Given the description of an element on the screen output the (x, y) to click on. 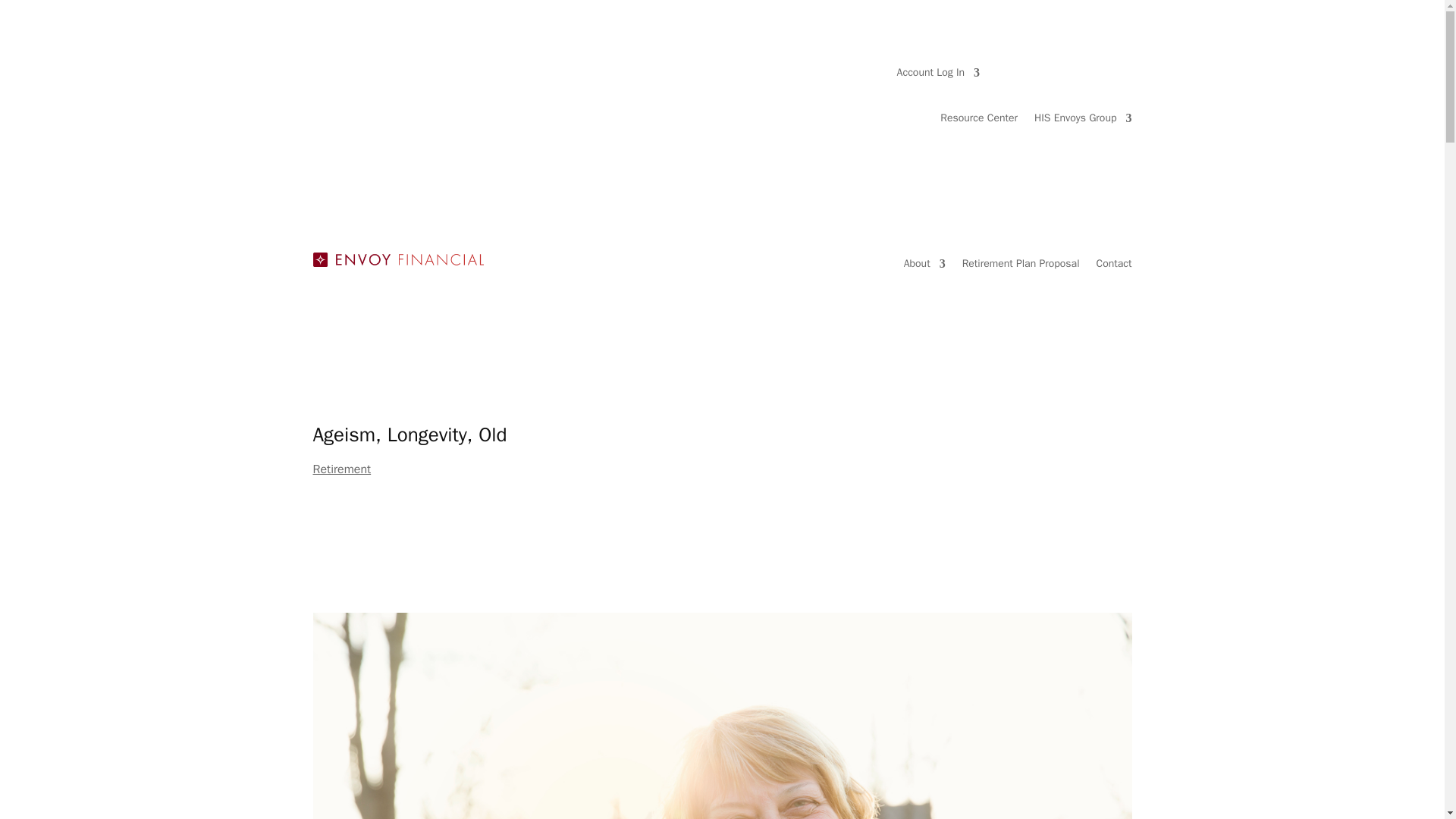
About (924, 266)
Account Log In (937, 75)
Contact (1114, 266)
Retirement (342, 468)
Retirement Plan Proposal (1021, 266)
Resource Center (978, 121)
HIS Envoys Group (1082, 121)
